Given the description of an element on the screen output the (x, y) to click on. 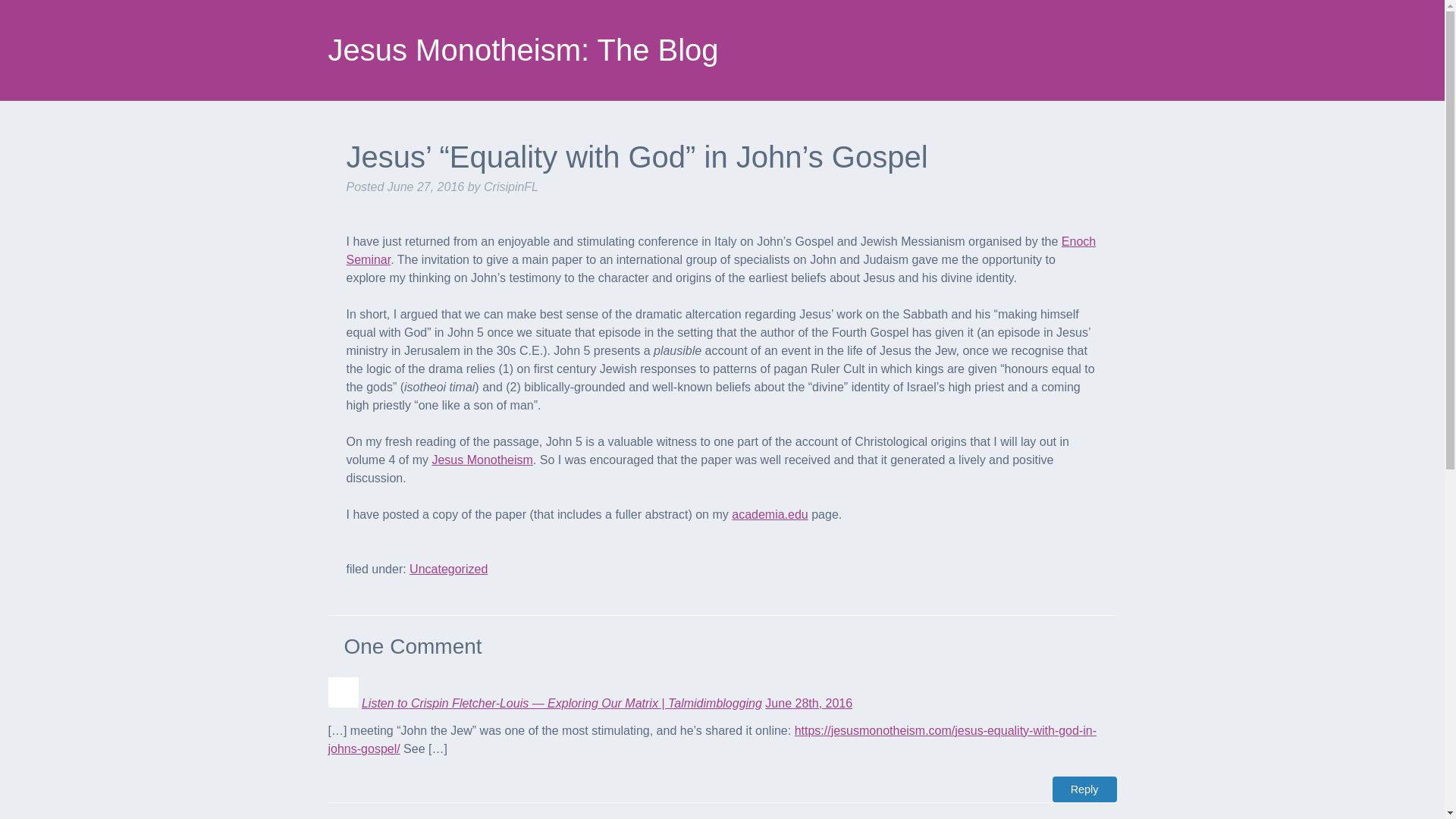
Uncategorized (448, 568)
Enoch Seminar (721, 250)
June 28th, 2016 (808, 703)
Jesus Monotheism: The Blog (522, 49)
Reply (1084, 789)
academia.edu (770, 513)
Jesus Monotheism (481, 459)
